Given the description of an element on the screen output the (x, y) to click on. 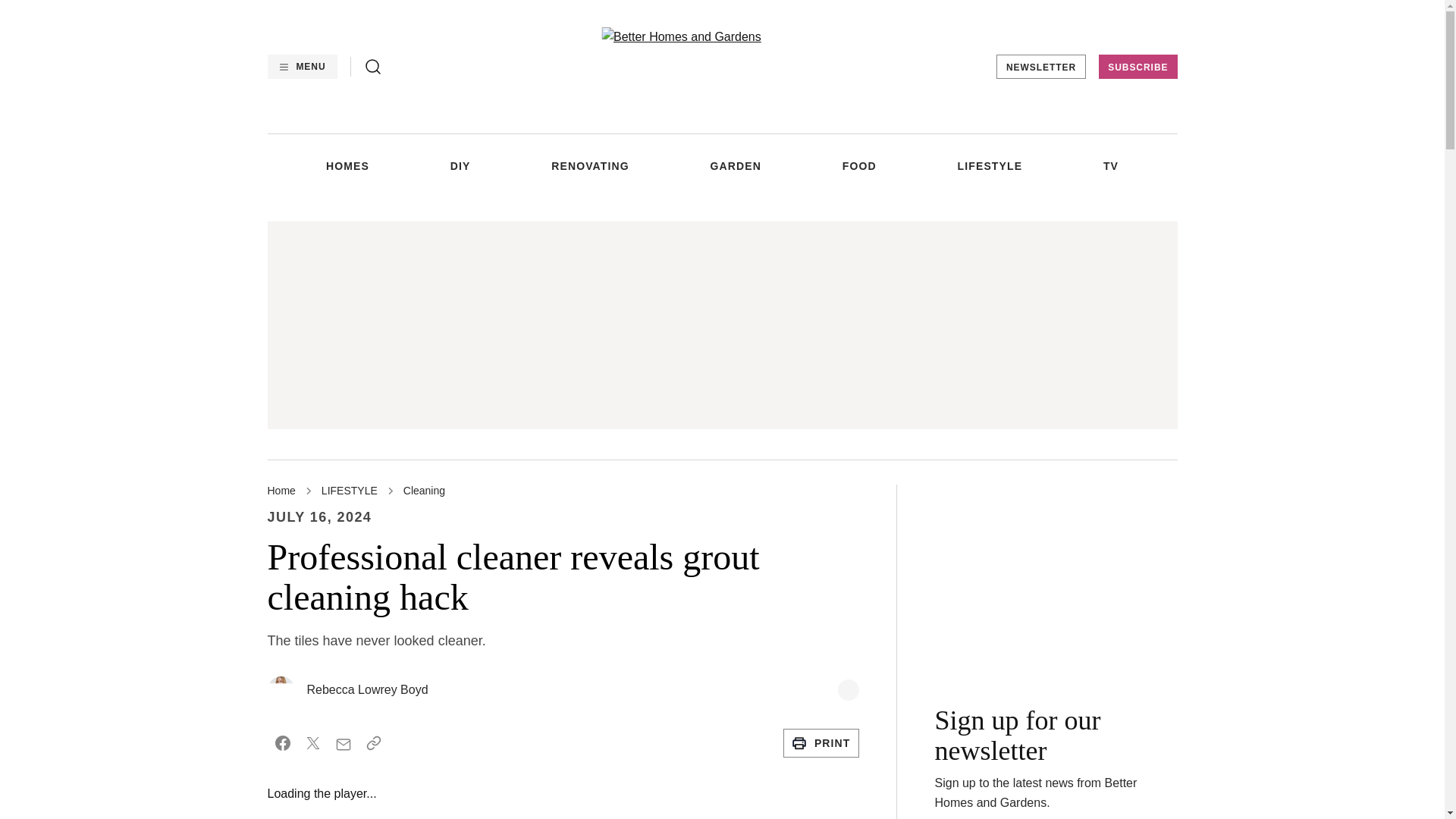
NEWSLETTER (1040, 66)
DIY (459, 165)
GARDEN (735, 165)
FOOD (859, 165)
SUBSCRIBE (1137, 66)
RENOVATING (589, 165)
HOMES (347, 165)
MENU (301, 66)
LIFESTYLE (990, 165)
TV (1110, 165)
